Given the description of an element on the screen output the (x, y) to click on. 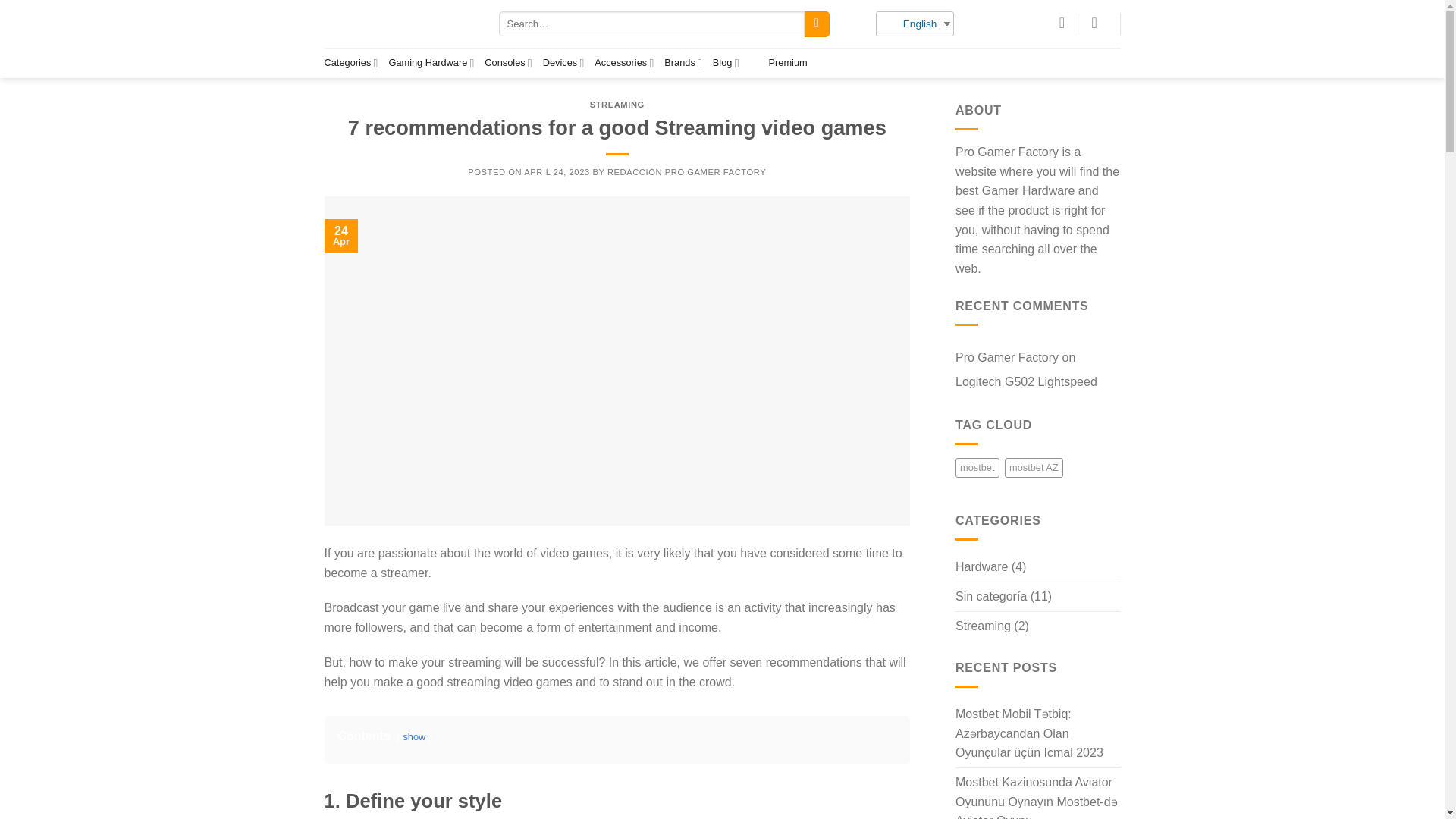
Search (817, 23)
Categories (351, 62)
English (908, 24)
Gaming Hardware (431, 62)
English (908, 24)
English (890, 23)
